Given the description of an element on the screen output the (x, y) to click on. 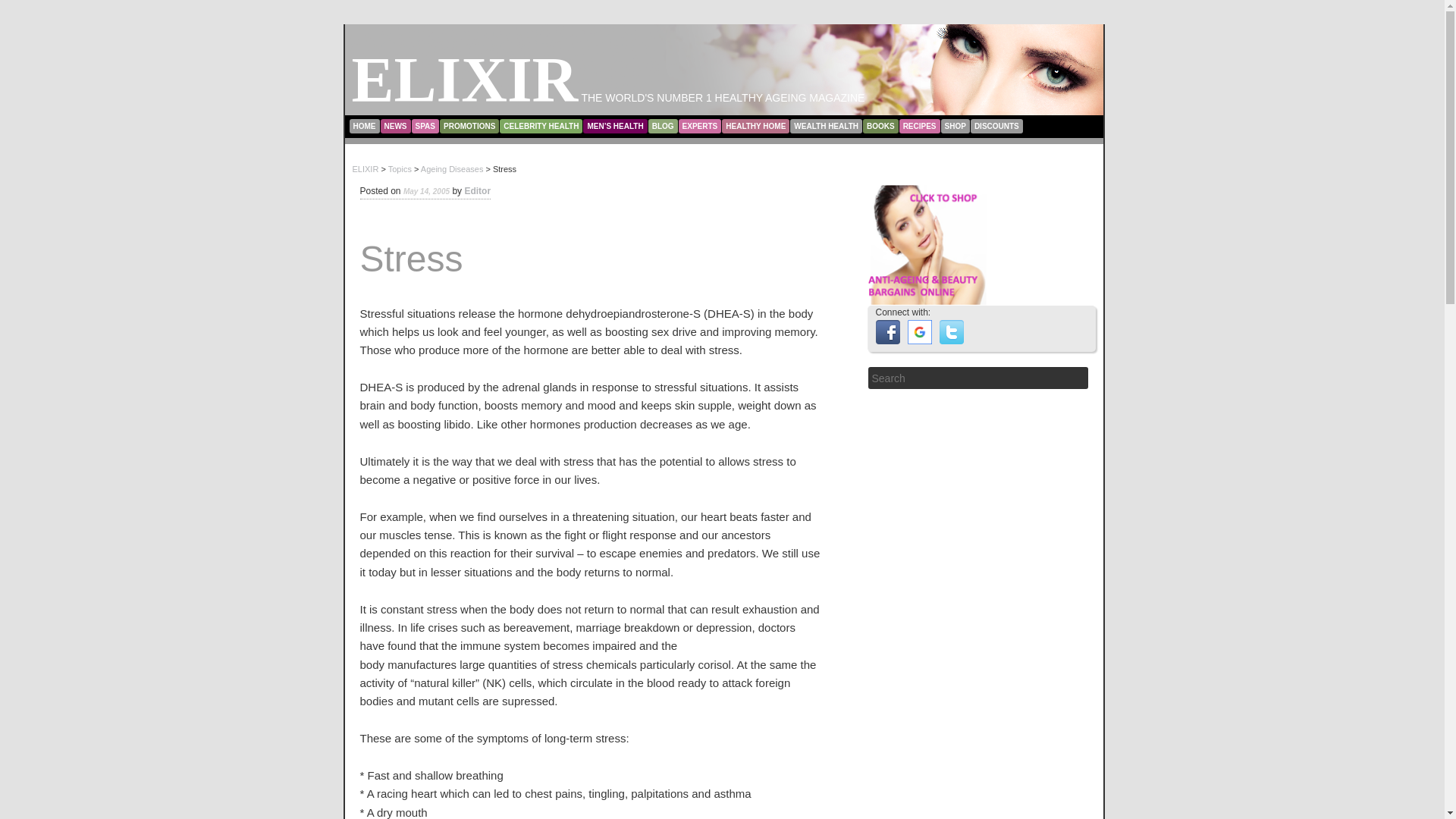
SKIP TO PRIMARY CONTENT (409, 121)
SPAS (424, 125)
Go to the Topics Category archives. (400, 168)
BOOKS (880, 125)
ELIXIR (465, 80)
Topics (400, 168)
DISCOUNTS (997, 125)
SKIP TO SECONDARY CONTENT (417, 121)
View all posts by Editor (477, 190)
Skip to primary content (409, 121)
Go to the Ageing Diseases Category archives. (451, 168)
4:32 pm (426, 190)
NEWS (395, 125)
ELIXIR (465, 80)
HOME (363, 125)
